Given the description of an element on the screen output the (x, y) to click on. 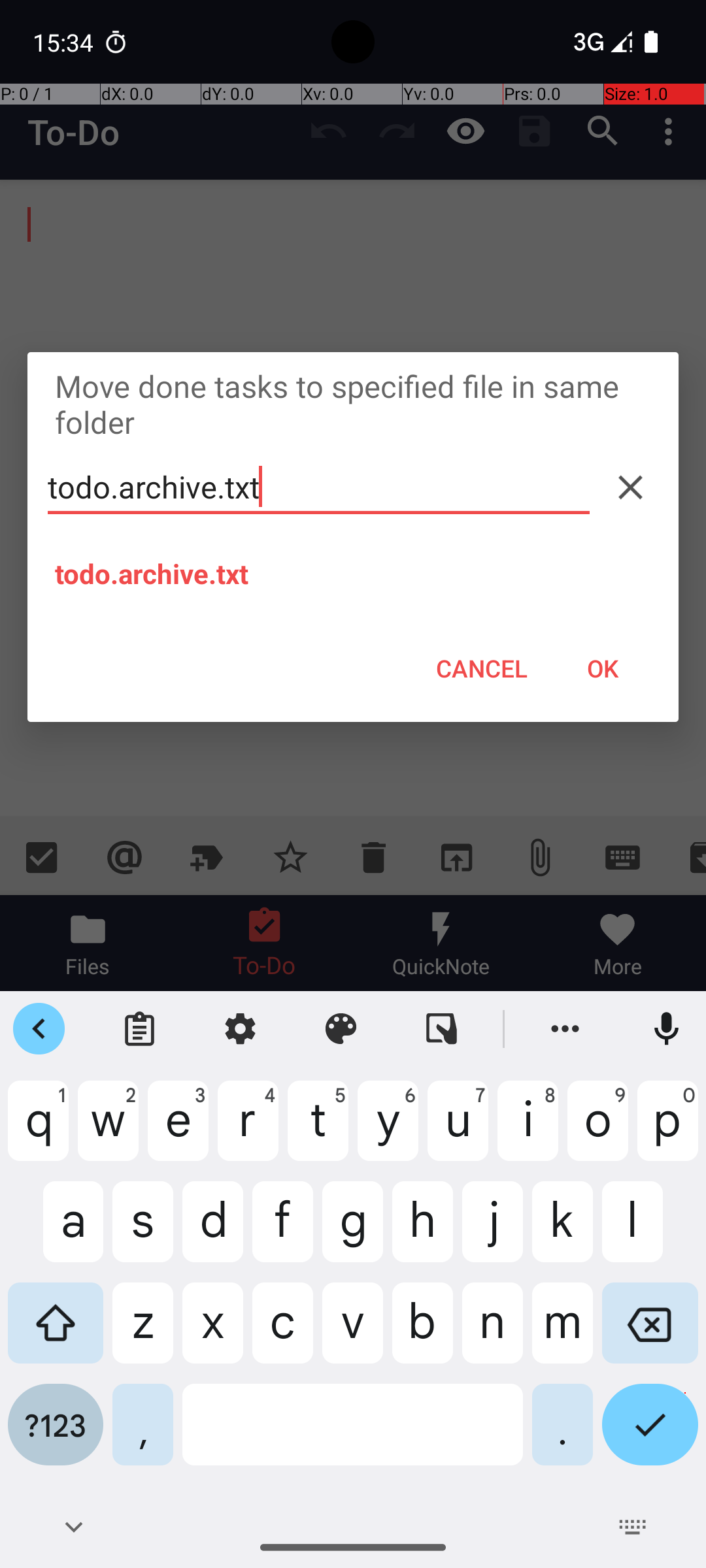
Move done tasks to specified file in same folder Element type: android.widget.TextView (352, 403)
todo.archive.txt Element type: android.widget.EditText (318, 486)
